Given the description of an element on the screen output the (x, y) to click on. 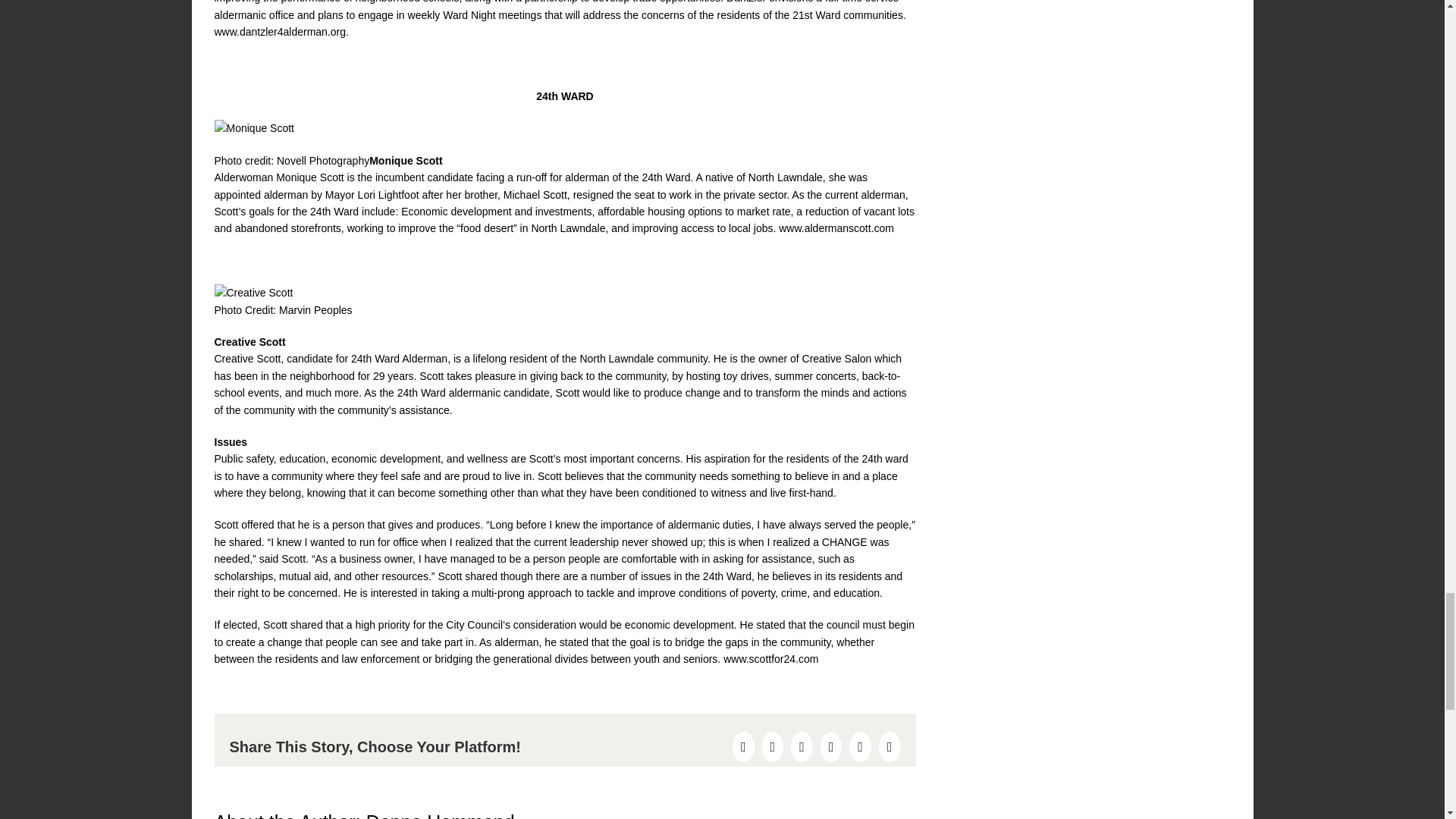
Posts by Donna Hammond (440, 815)
www.aldermanscott.com (835, 227)
www.scottfor24.com (770, 658)
www.dantzler4alderman.org (280, 31)
